Given the description of an element on the screen output the (x, y) to click on. 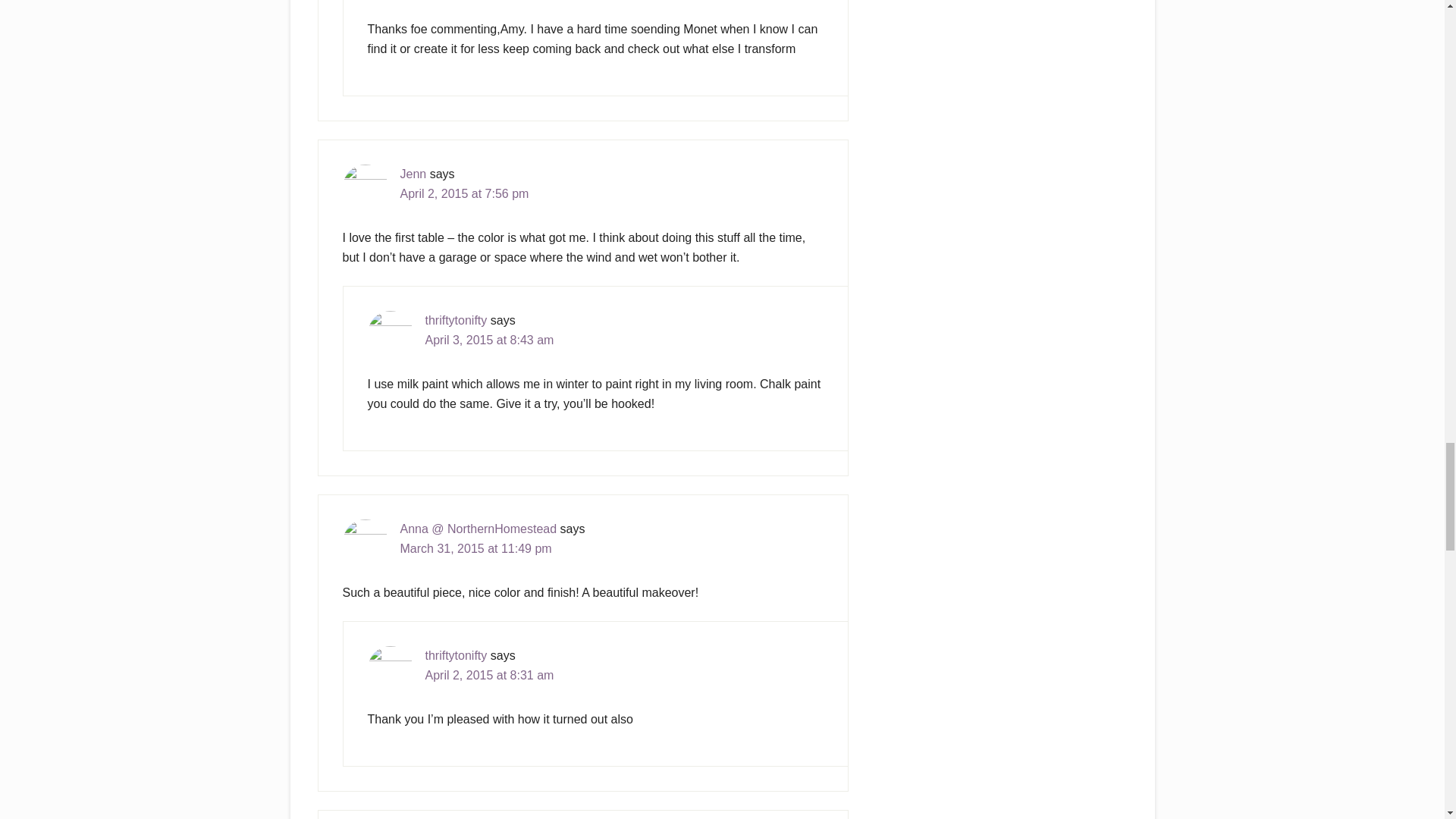
April 2, 2015 at 8:31 am (489, 675)
April 3, 2015 at 8:43 am (489, 339)
April 2, 2015 at 7:56 pm (464, 193)
Jenn (413, 173)
March 31, 2015 at 11:49 pm (475, 548)
thriftytonifty (455, 319)
thriftytonifty (455, 655)
